Given the description of an element on the screen output the (x, y) to click on. 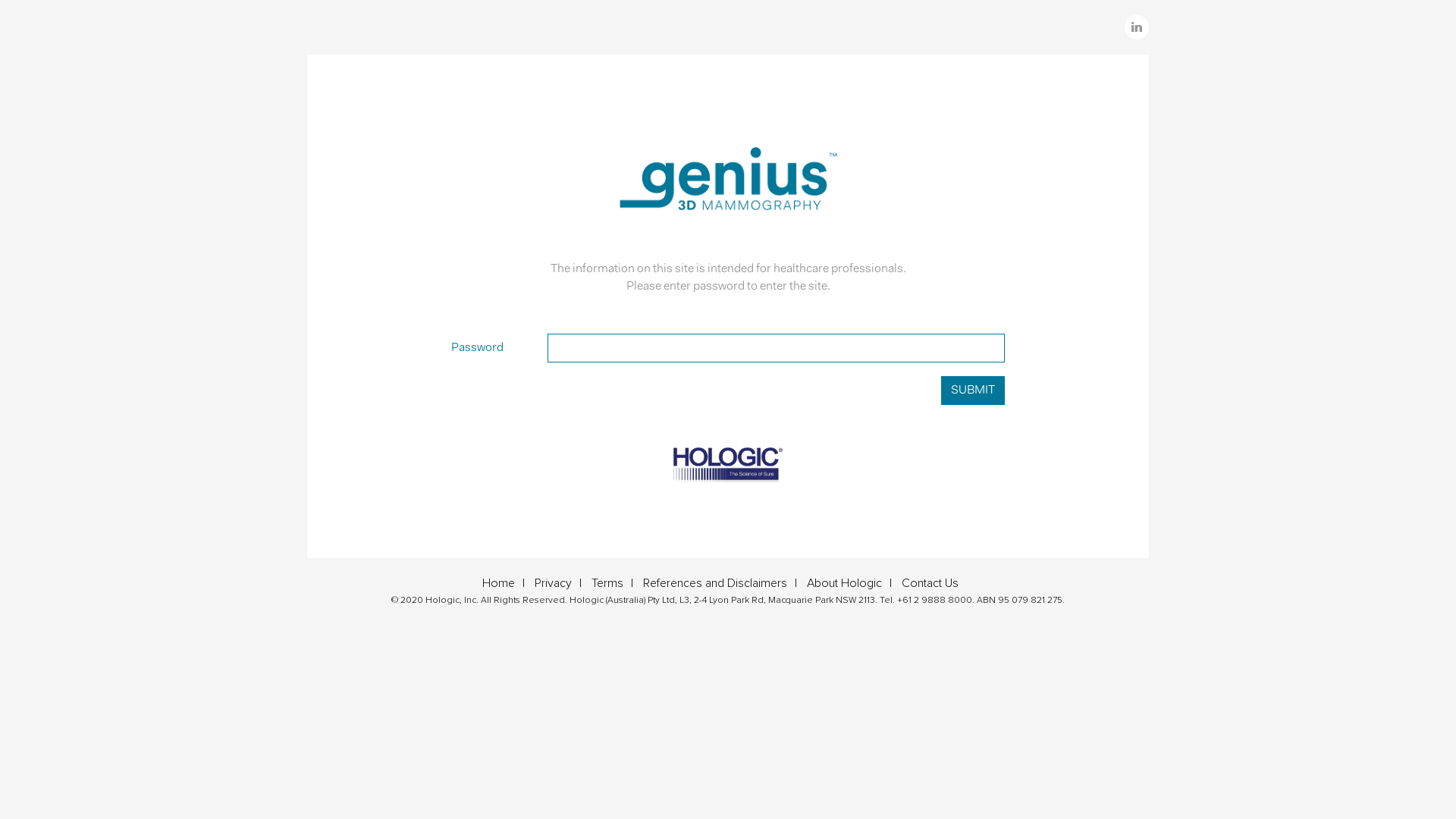
Terms Element type: text (615, 583)
Home Element type: text (507, 583)
Privacy Element type: text (561, 583)
Contact Us Element type: text (937, 583)
SUBMIT Element type: text (972, 390)
LinkedIn Element type: hover (1136, 27)
About Hologic Element type: text (852, 583)
References and Disclaimers Element type: text (723, 583)
